Given the description of an element on the screen output the (x, y) to click on. 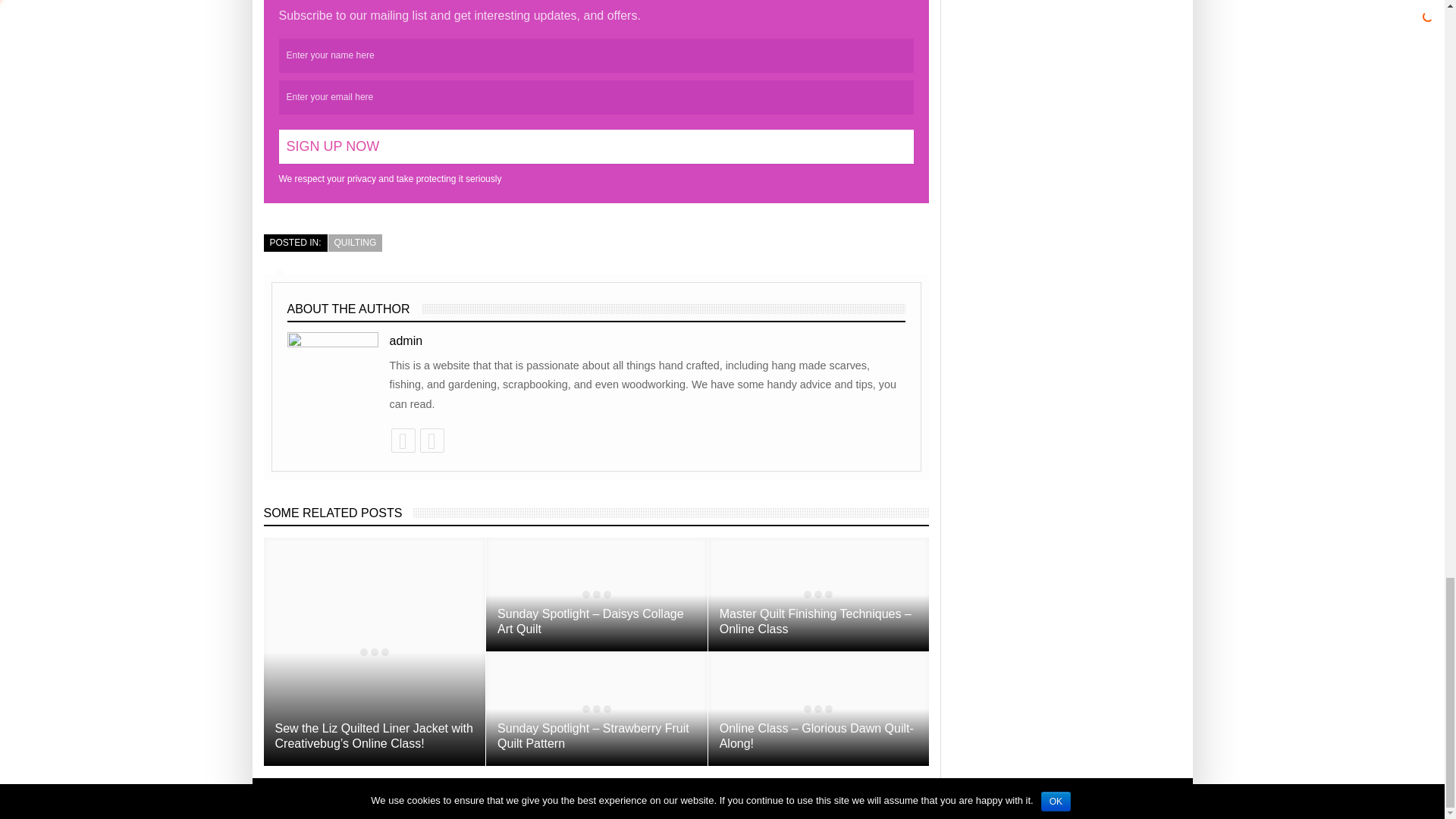
Sign Up Now (596, 146)
